Given the description of an element on the screen output the (x, y) to click on. 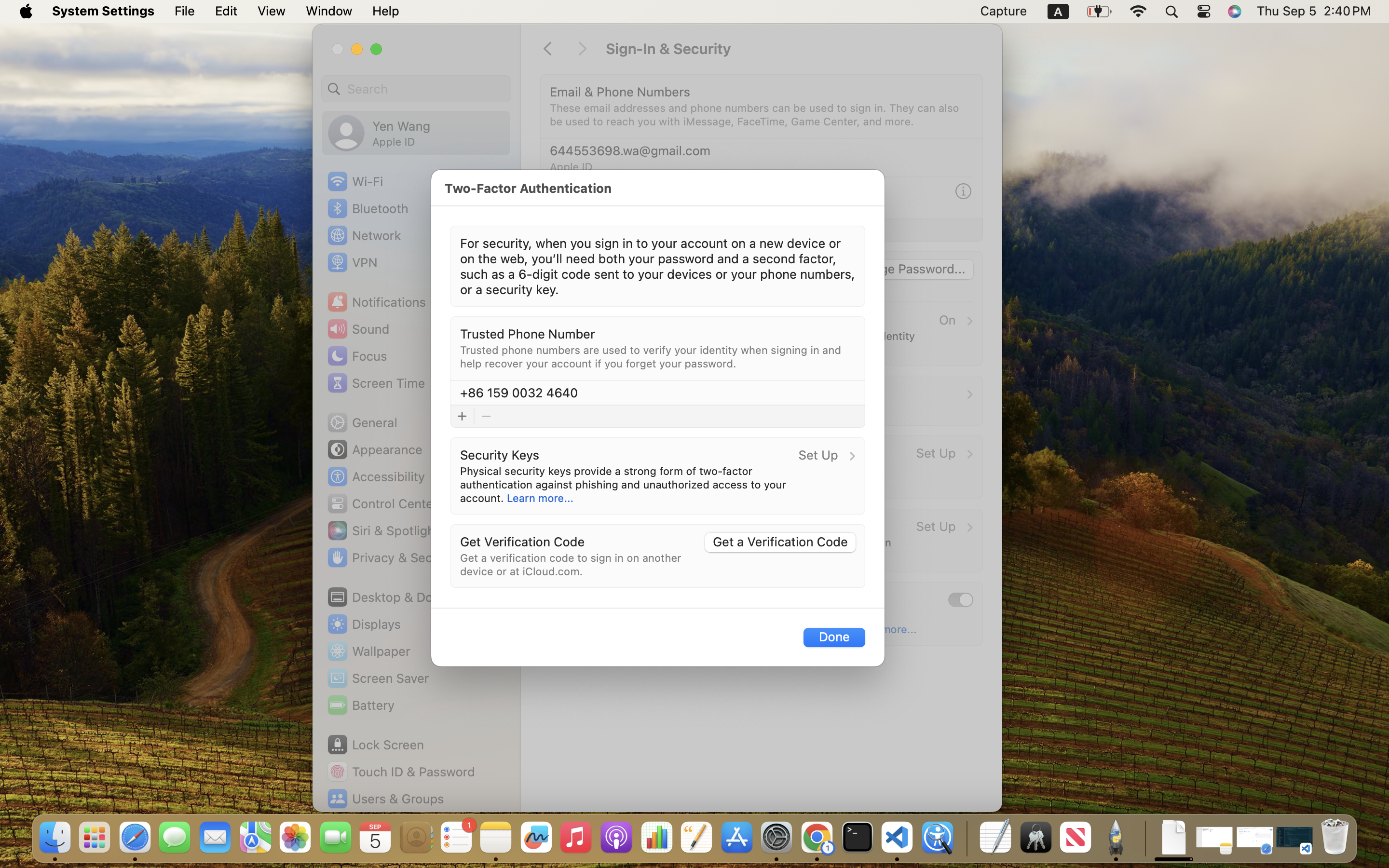
1 Element type: AXCheckBox (960, 599)
Control Center Element type: AXStaticText (381, 503)
Last Changed August 8, 2023. Element type: AXStaticText (626, 284)
Bypass CAPTCHAs in apps and on the web by allowing iCloud to automatically and privately verify your device and account. Learn more... Element type: AXStaticText (732, 621)
Screen Time Element type: AXStaticText (375, 382)
